Given the description of an element on the screen output the (x, y) to click on. 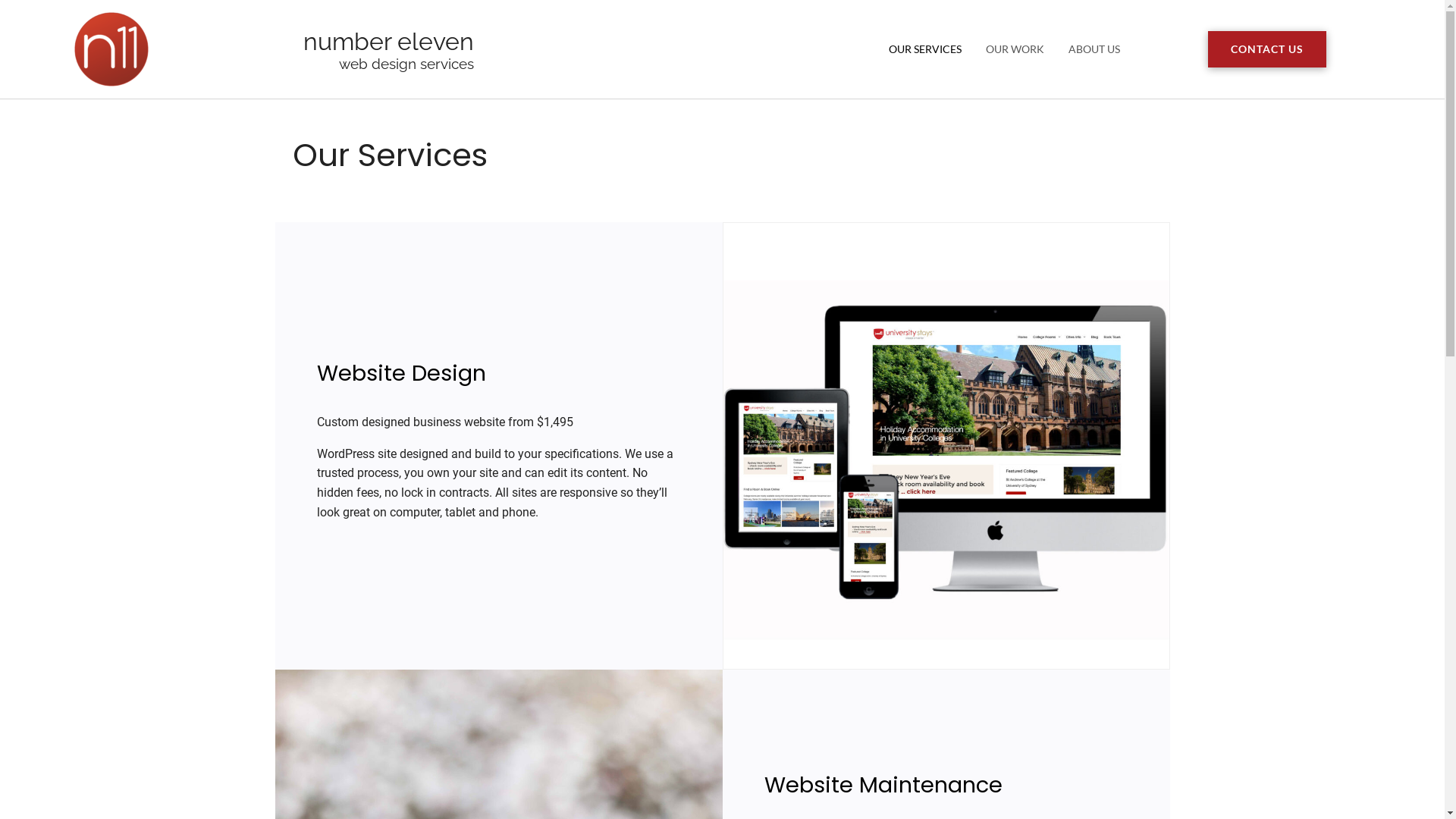
ABOUT US Element type: text (1094, 49)
number eleven Element type: text (388, 41)
OUR SERVICES Element type: text (924, 49)
OUR WORK Element type: text (1014, 49)
CONTACT US Element type: text (1267, 49)
